Given the description of an element on the screen output the (x, y) to click on. 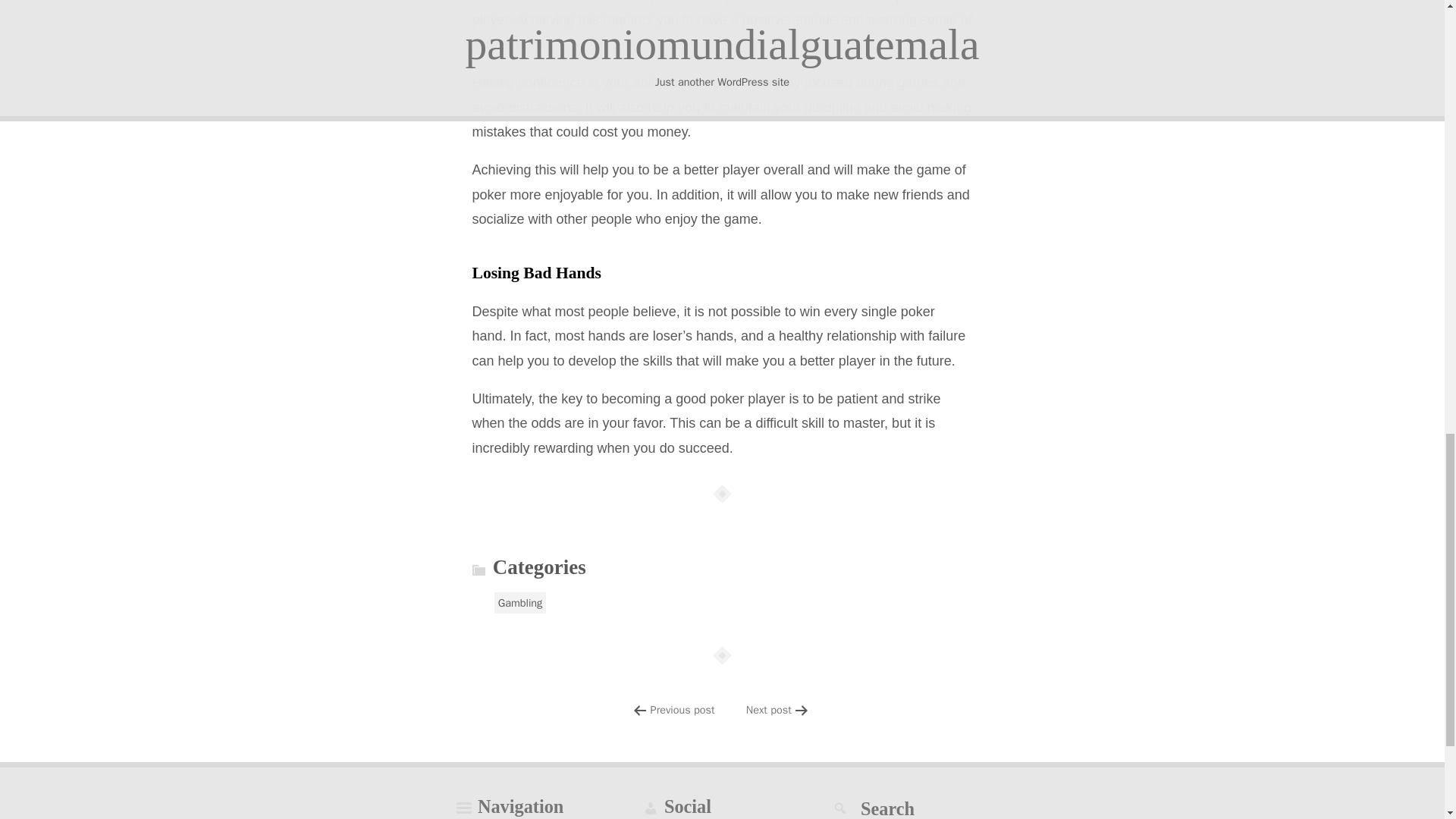
Previous post (682, 709)
Next post (768, 709)
Gambling (521, 602)
